Given the description of an element on the screen output the (x, y) to click on. 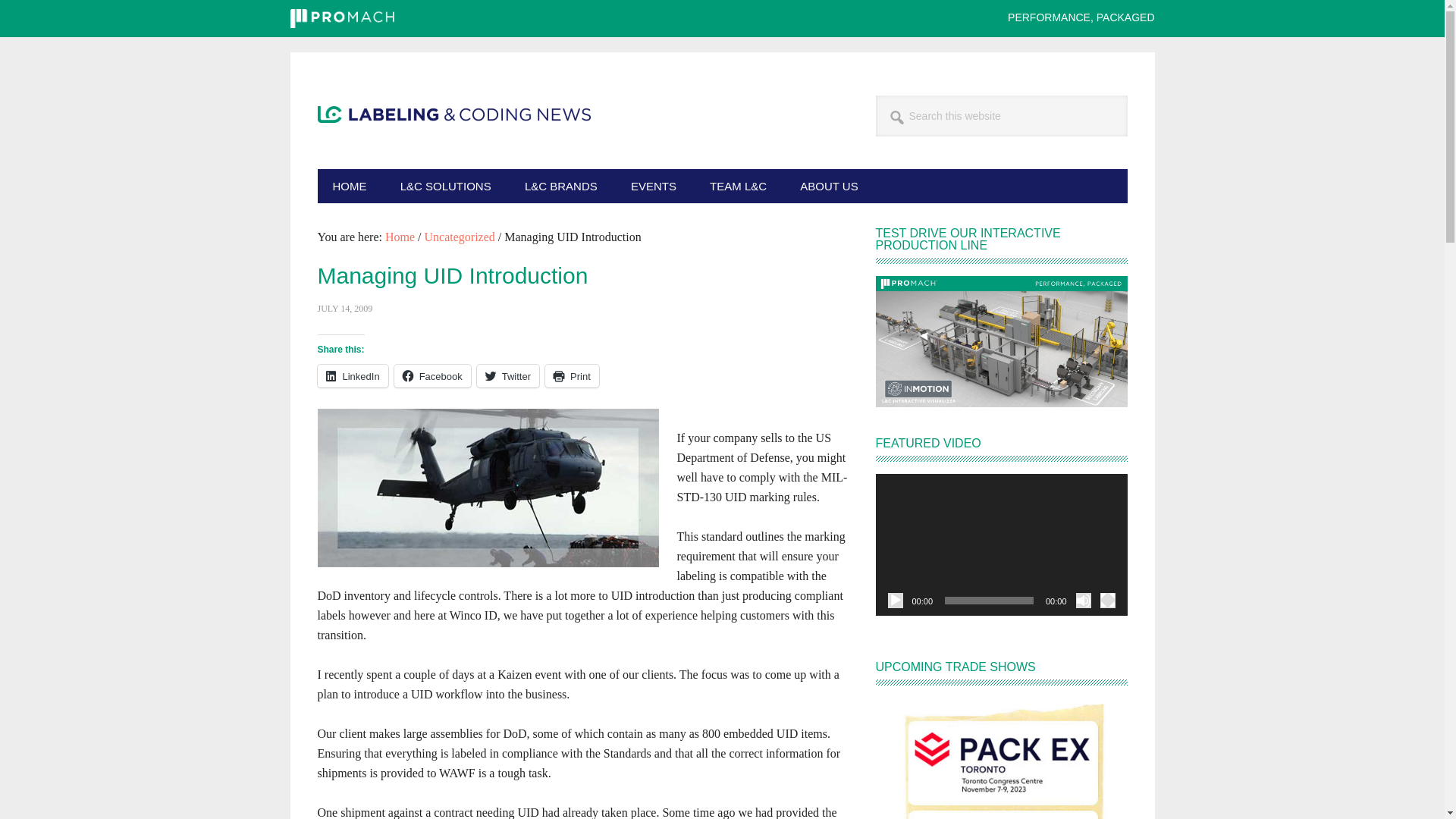
Click to print (571, 374)
Mute (1082, 600)
Uncategorized (460, 236)
Fullscreen (1107, 600)
ABOUT US (828, 185)
HOME (349, 185)
Play (894, 600)
helli (487, 486)
LinkedIn (352, 374)
Facebook (432, 374)
Twitter (507, 374)
EVENTS (653, 185)
Print (571, 374)
